Given the description of an element on the screen output the (x, y) to click on. 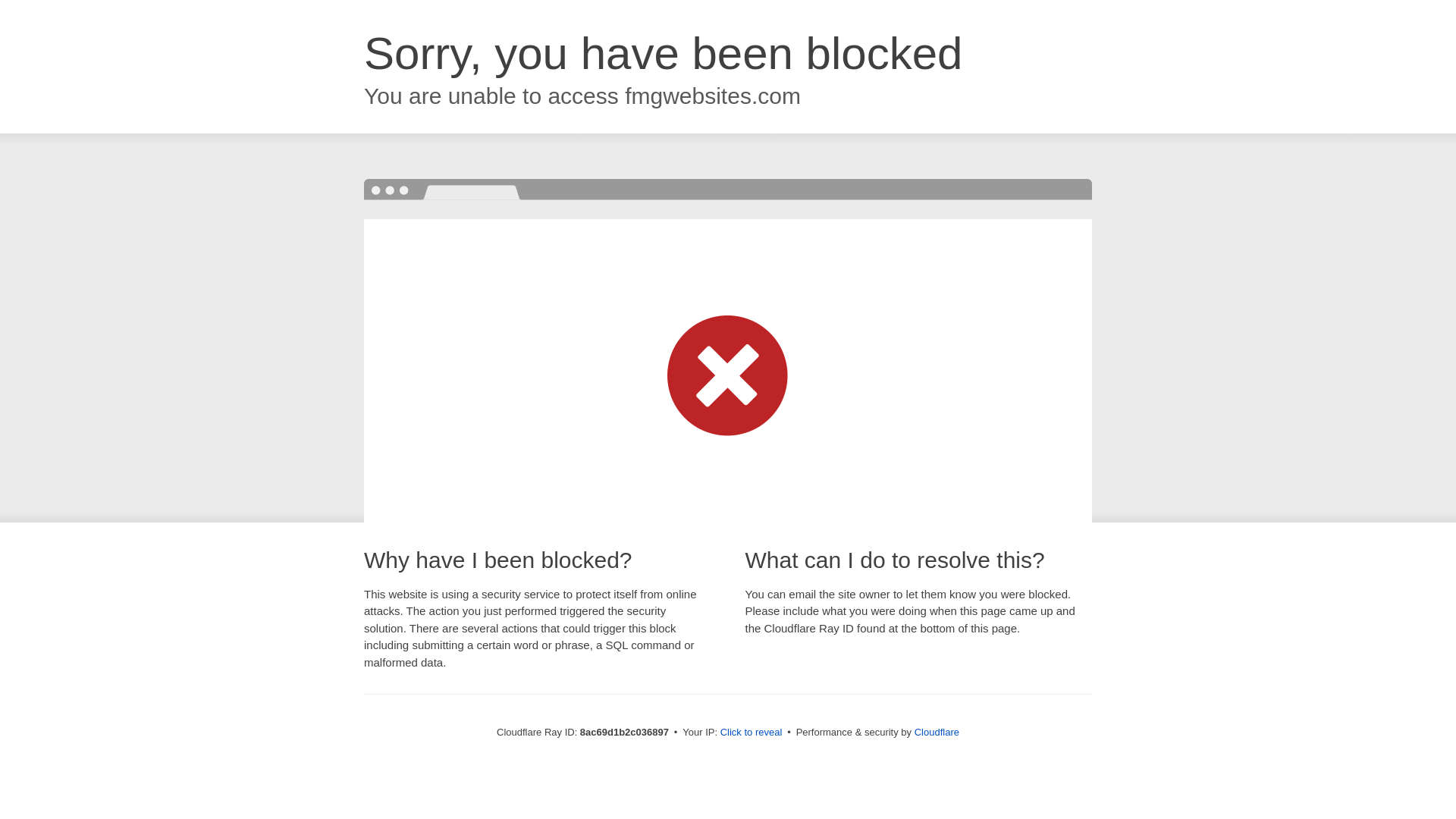
Cloudflare (936, 731)
Click to reveal (751, 732)
